Given the description of an element on the screen output the (x, y) to click on. 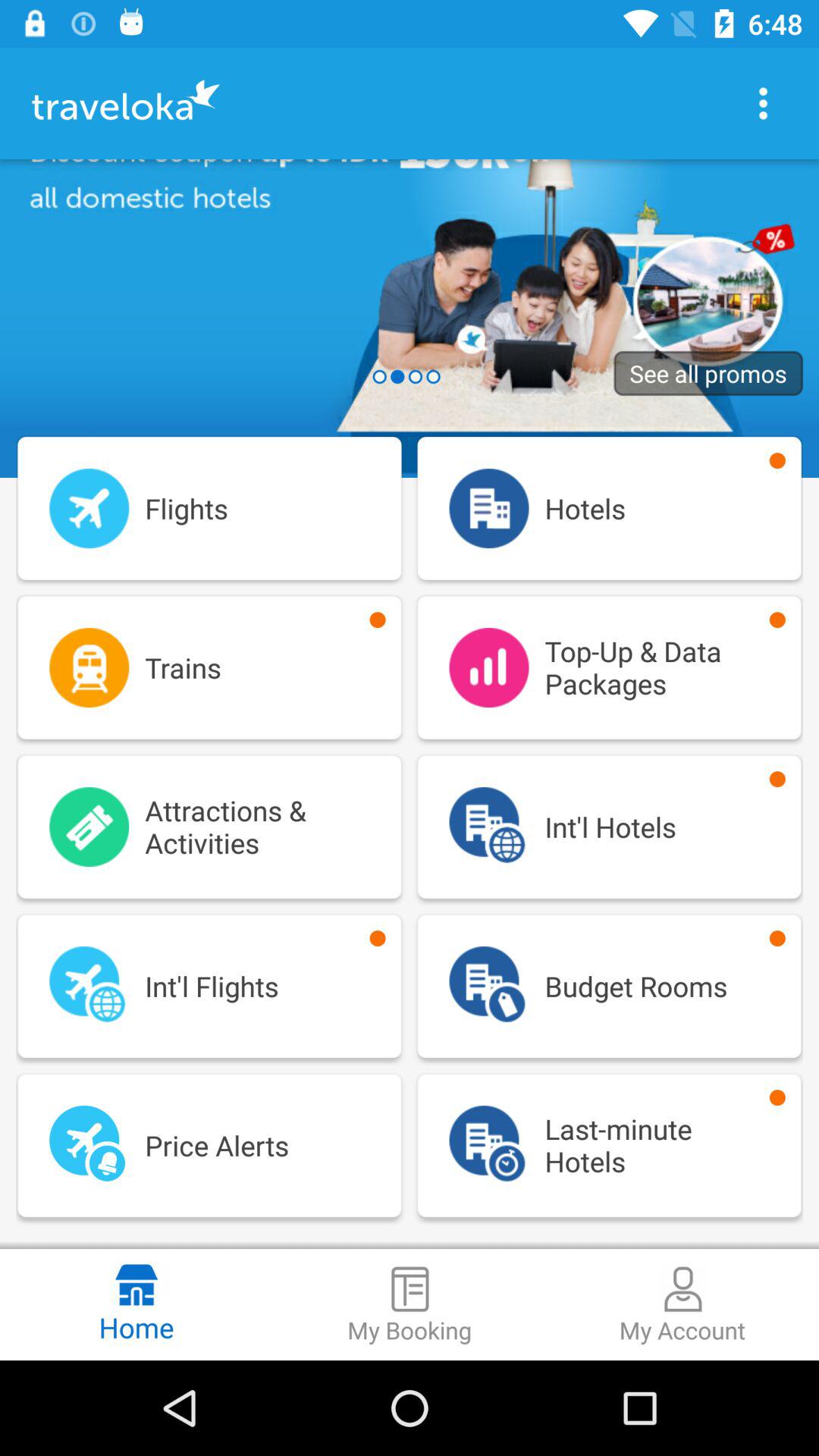
view more (763, 103)
